Given the description of an element on the screen output the (x, y) to click on. 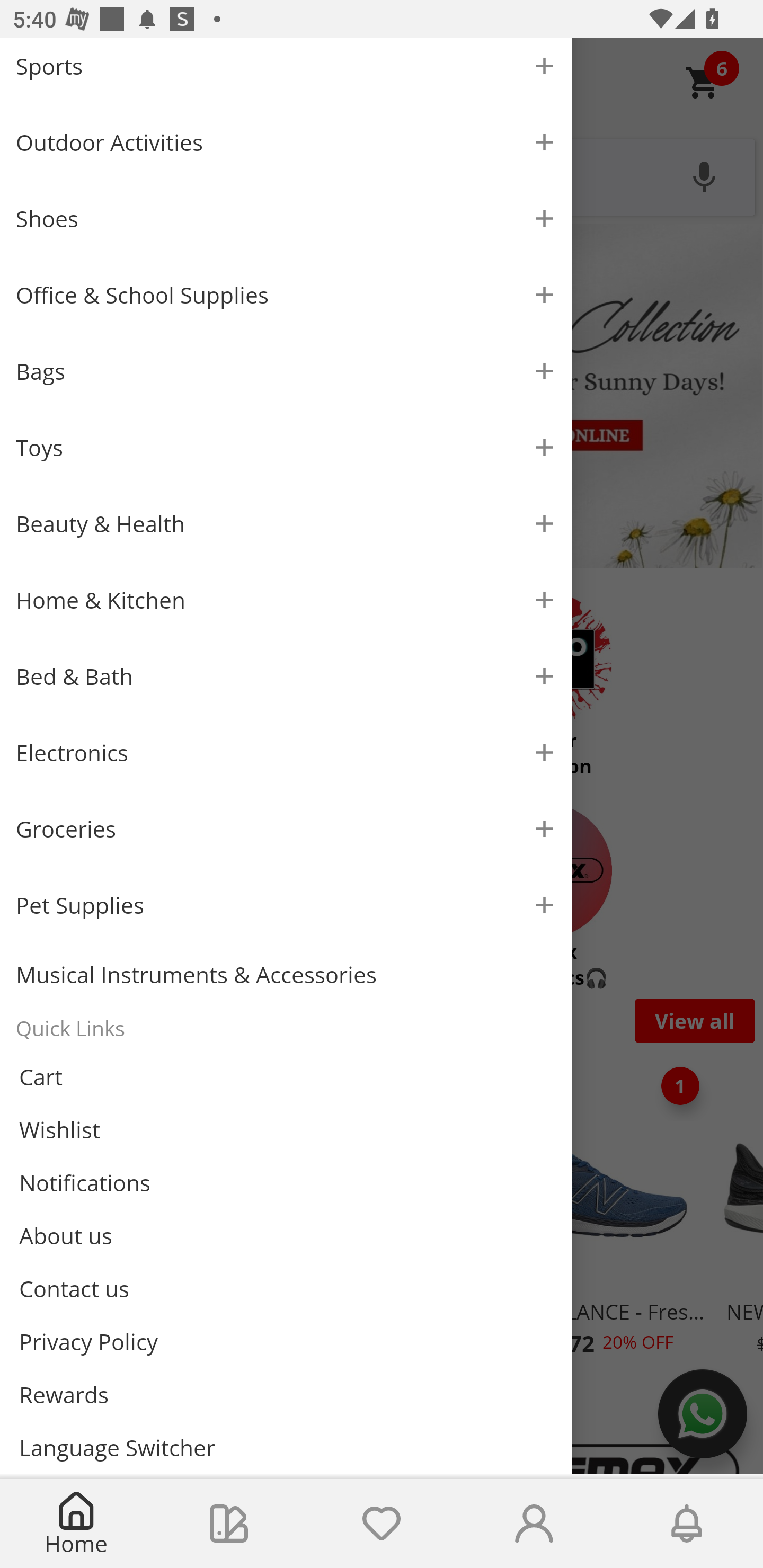
Sports (286, 71)
Outdoor Activities (286, 142)
Shoes (286, 218)
Office & School Supplies (286, 294)
Bags (286, 370)
Toys (286, 447)
Beauty & Health (286, 523)
Home & Kitchen (286, 599)
Bed & Bath (286, 676)
Electronics (286, 752)
Groceries (286, 828)
Pet Supplies (286, 905)
Musical Instruments & Accessories (286, 974)
Cart (286, 1076)
Wishlist (286, 1130)
Notifications (286, 1182)
About us (286, 1235)
Contact us (286, 1288)
Privacy Policy (286, 1341)
Rewards (286, 1394)
Language Switcher (286, 1446)
Collections (228, 1523)
Wishlist (381, 1523)
Account (533, 1523)
Notifications (686, 1523)
